Given the description of an element on the screen output the (x, y) to click on. 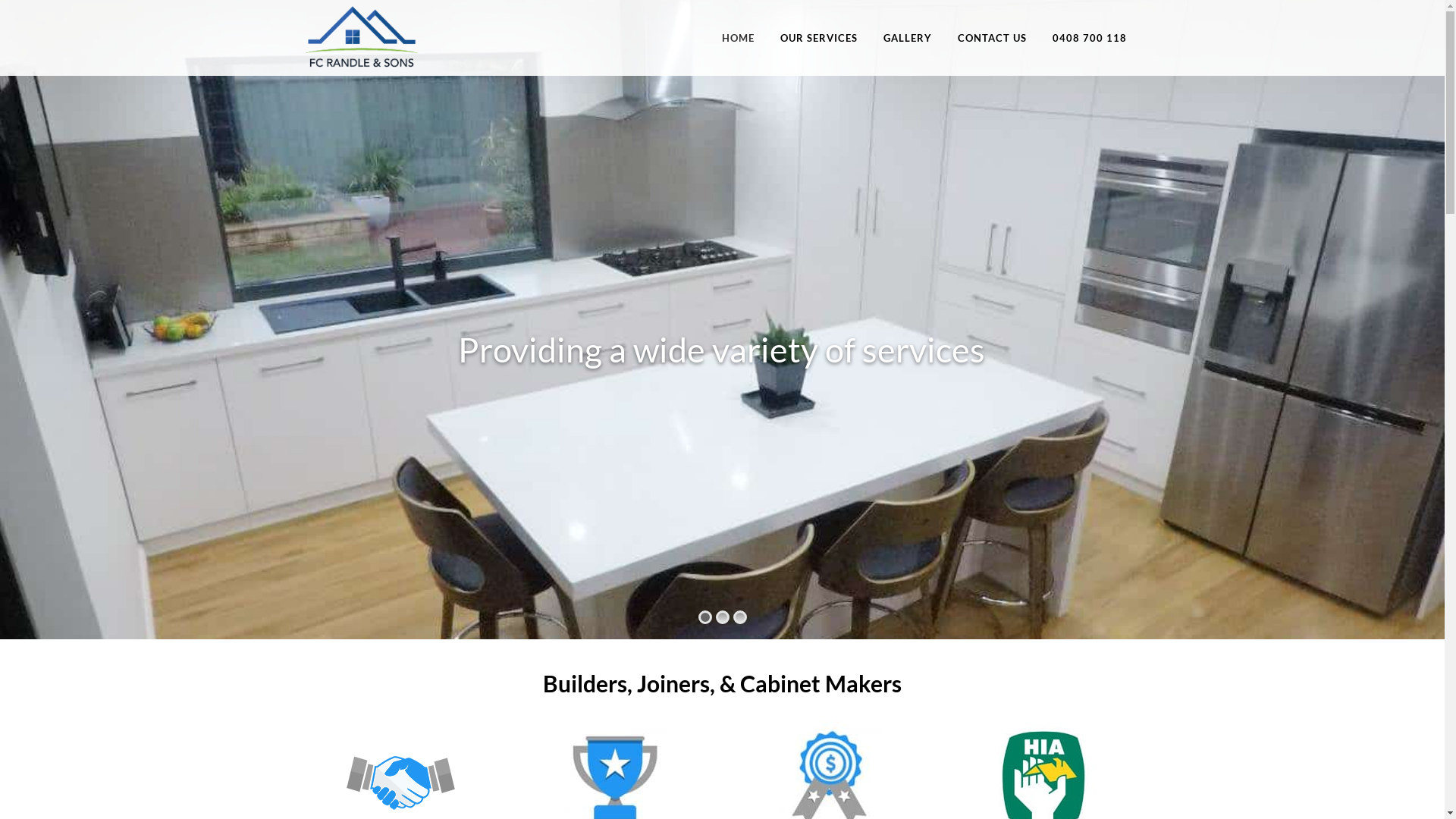
HOME Element type: text (737, 37)
OUR SERVICES Element type: text (818, 37)
GALLERY Element type: text (907, 37)
CONTACT US Element type: text (991, 37)
0408 700 118 Element type: text (1088, 37)
